Given the description of an element on the screen output the (x, y) to click on. 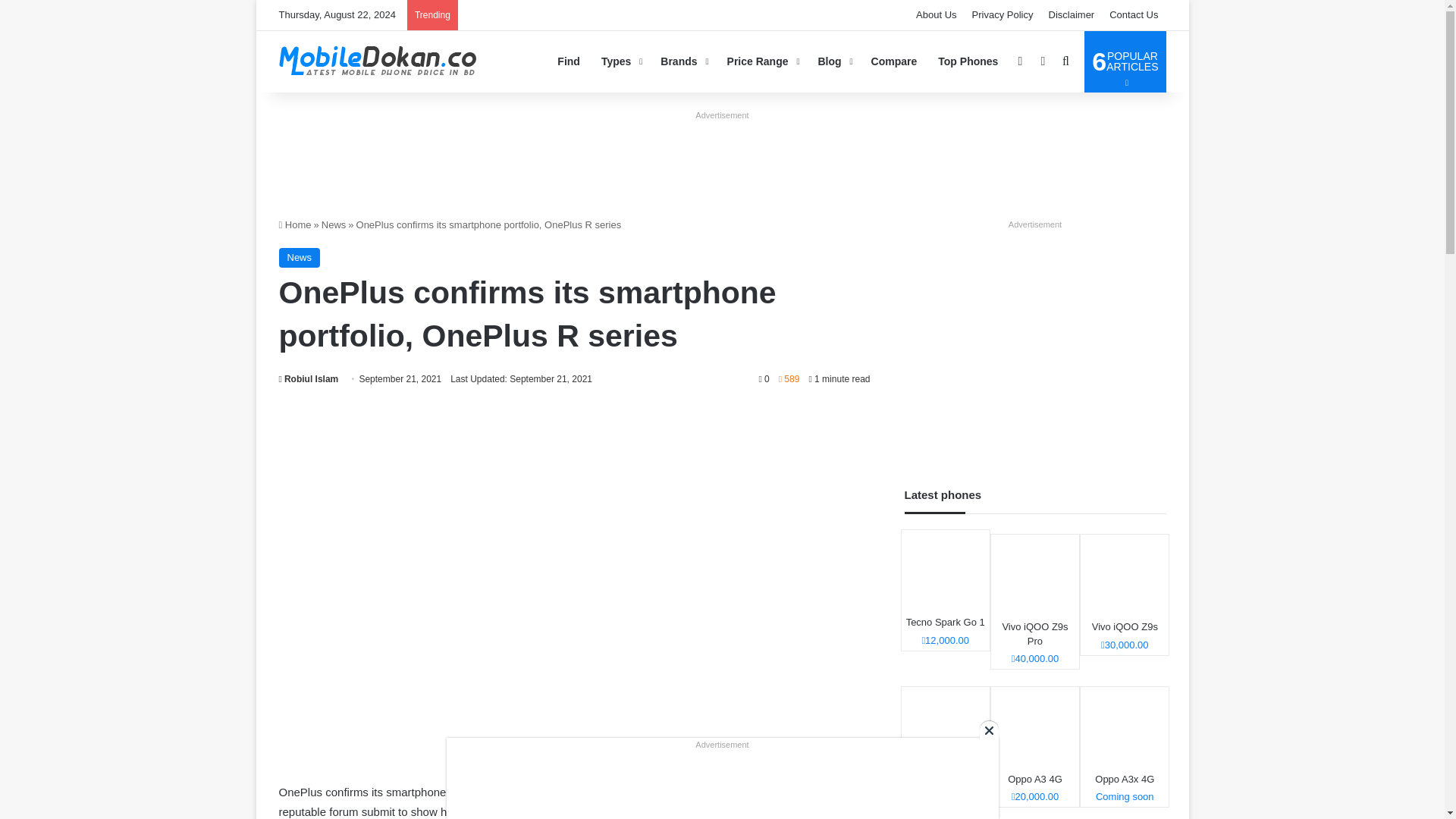
Types (620, 61)
About Us (935, 15)
Privacy Policy (1002, 15)
Contact Us (1134, 15)
Brands (682, 61)
Types (620, 61)
Disclaimer (1071, 15)
About Us (935, 15)
Contact Us (1134, 15)
Disclaimer (1071, 15)
